Given the description of an element on the screen output the (x, y) to click on. 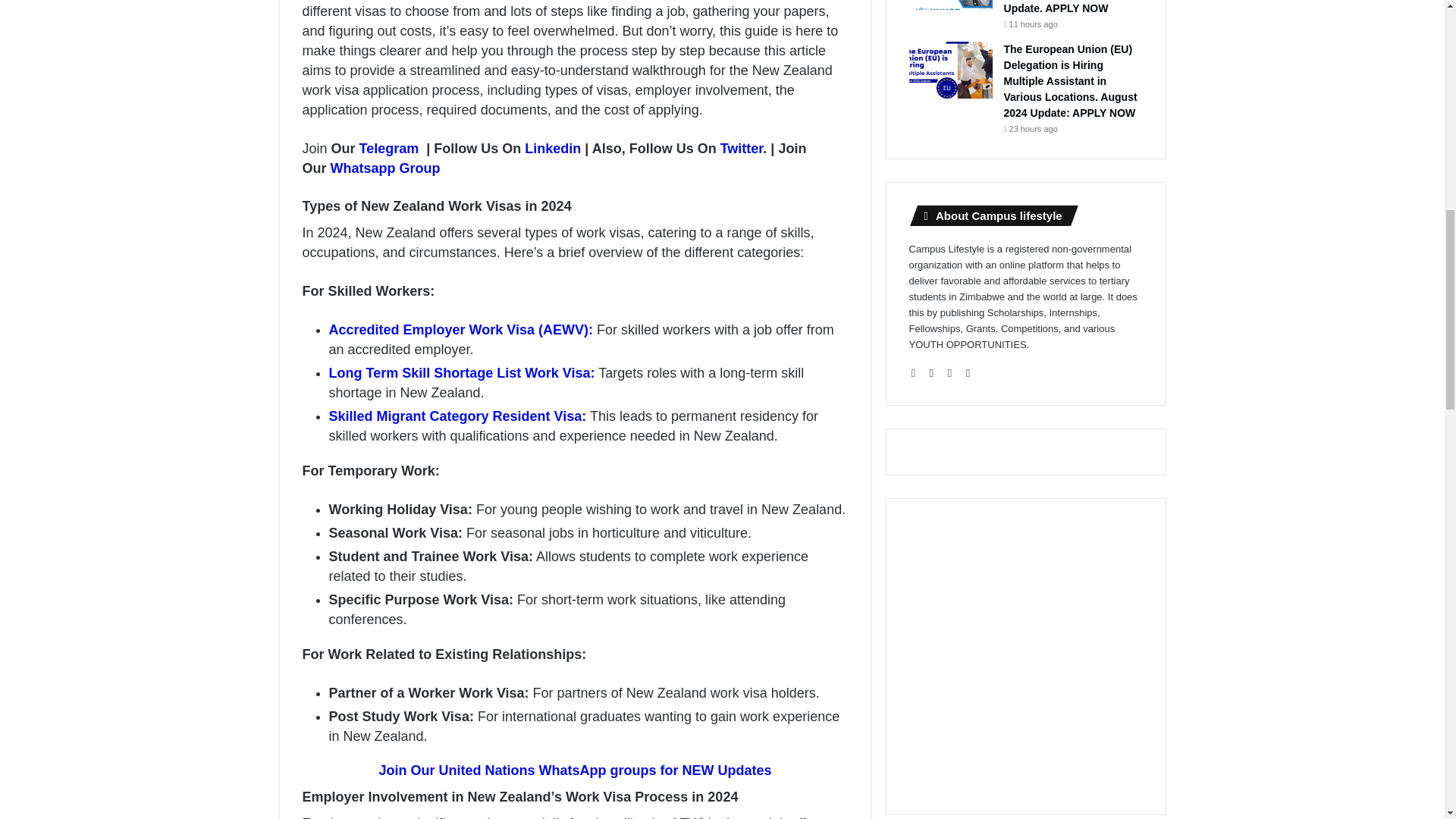
Linkedin (552, 148)
Telegram (389, 148)
Twitter (741, 148)
